Given the description of an element on the screen output the (x, y) to click on. 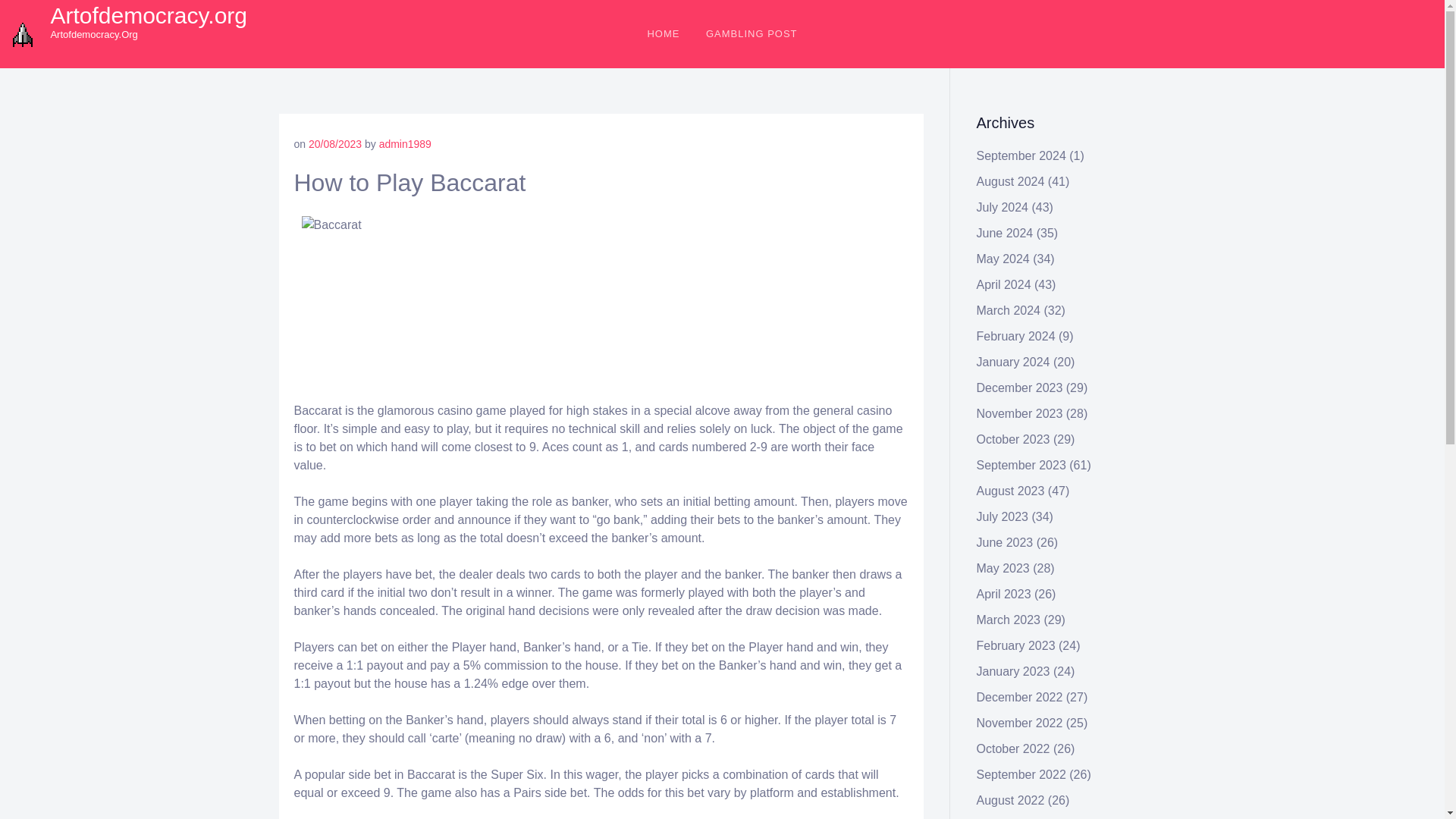
May 2024 (1002, 258)
September 2024 (1020, 155)
April 2023 (1003, 594)
February 2024 (1015, 336)
October 2022 (1012, 748)
July 2024 (1002, 206)
November 2023 (1019, 413)
May 2023 (1002, 567)
January 2024 (1012, 361)
September 2023 (1020, 464)
